Given the description of an element on the screen output the (x, y) to click on. 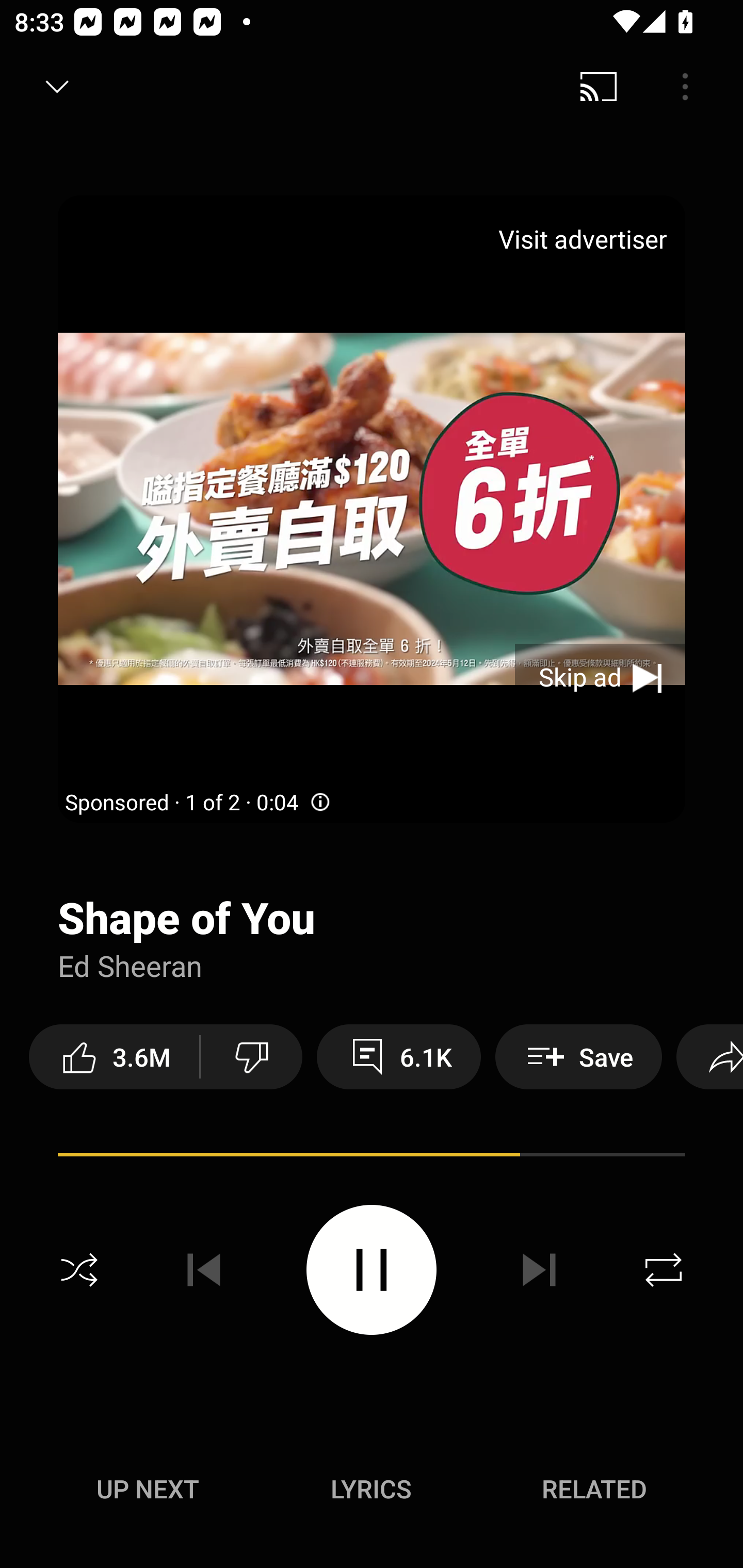
Minimize (57, 86)
Cast. Disconnected (598, 86)
Menu (684, 86)
Visit advertiser (586, 239)
Skip ad (599, 678)
Sponsored · 1 of 2 · 0:04 (198, 802)
Dislike (251, 1056)
6.1K View 6,153 comments (398, 1056)
Save Save to playlist (578, 1056)
Share (709, 1056)
Pause video (371, 1269)
Shuffle off (79, 1269)
Previous track disabled (203, 1269)
Next track disabled (538, 1269)
Repeat off (663, 1269)
Up next UP NEXT Lyrics LYRICS Related RELATED (371, 1491)
Lyrics LYRICS (370, 1488)
Related RELATED (594, 1488)
